Given the description of an element on the screen output the (x, y) to click on. 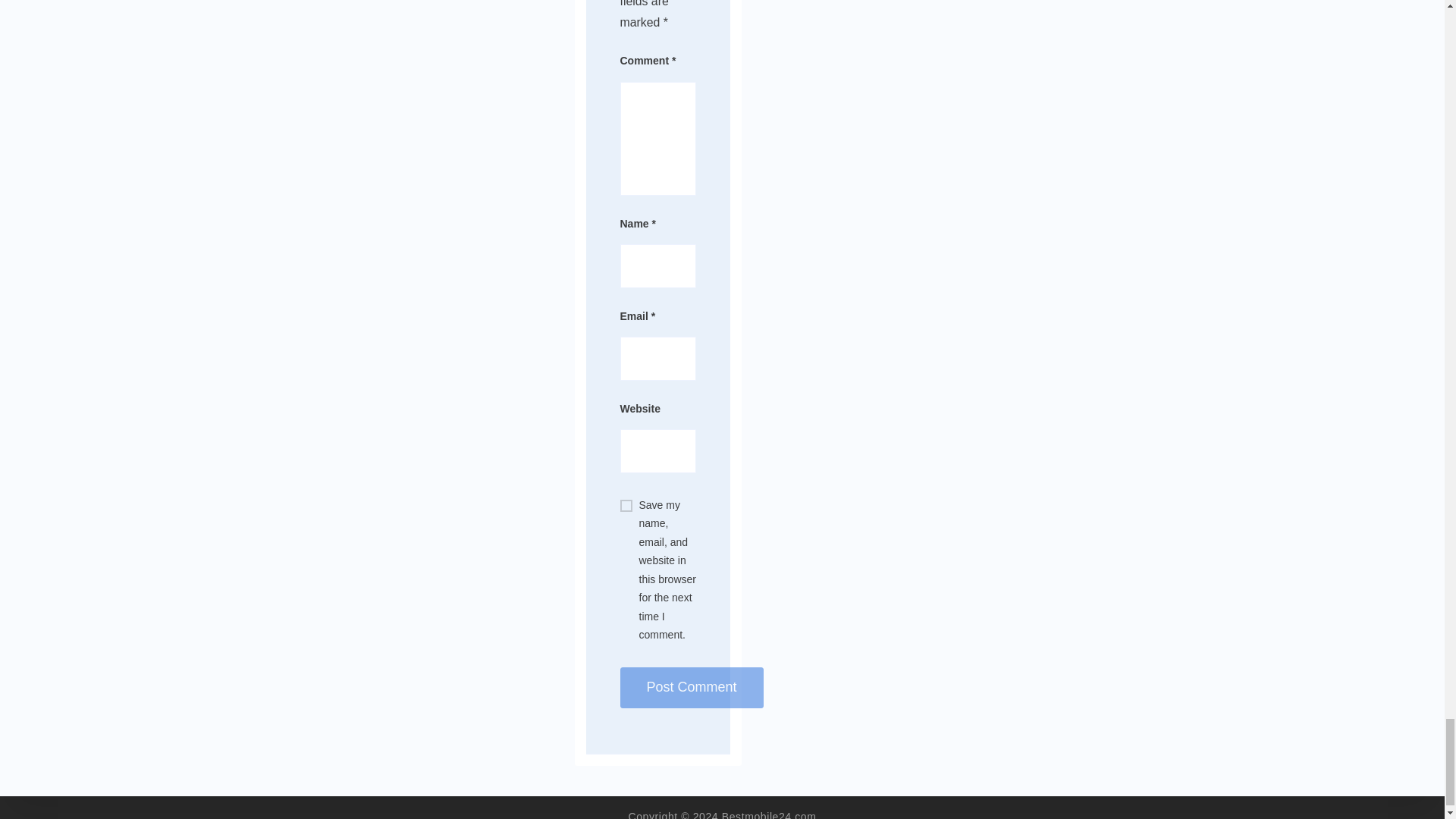
Post Comment (691, 687)
